Given the description of an element on the screen output the (x, y) to click on. 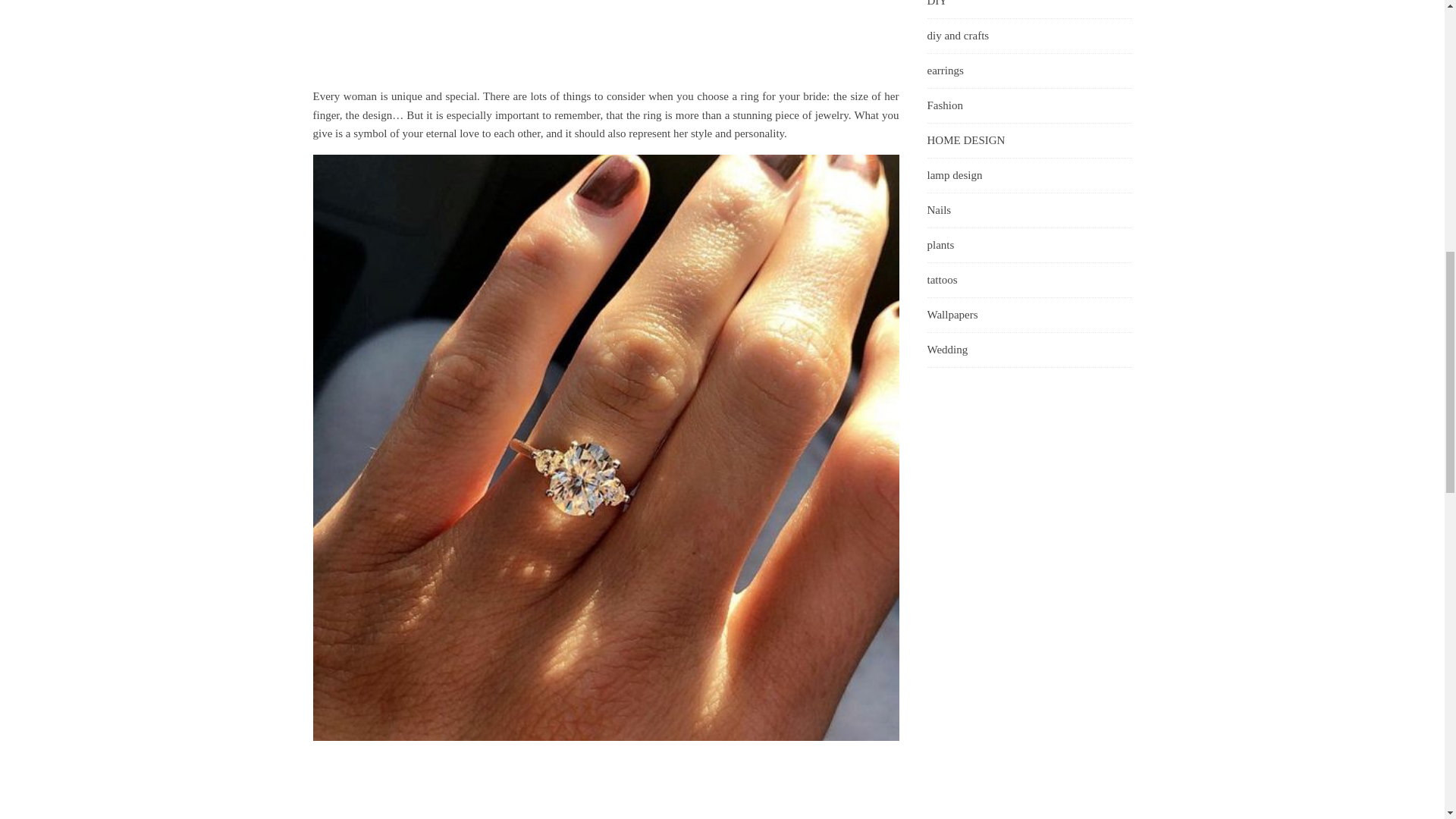
Advertisement (605, 43)
Advertisement (605, 785)
